Given the description of an element on the screen output the (x, y) to click on. 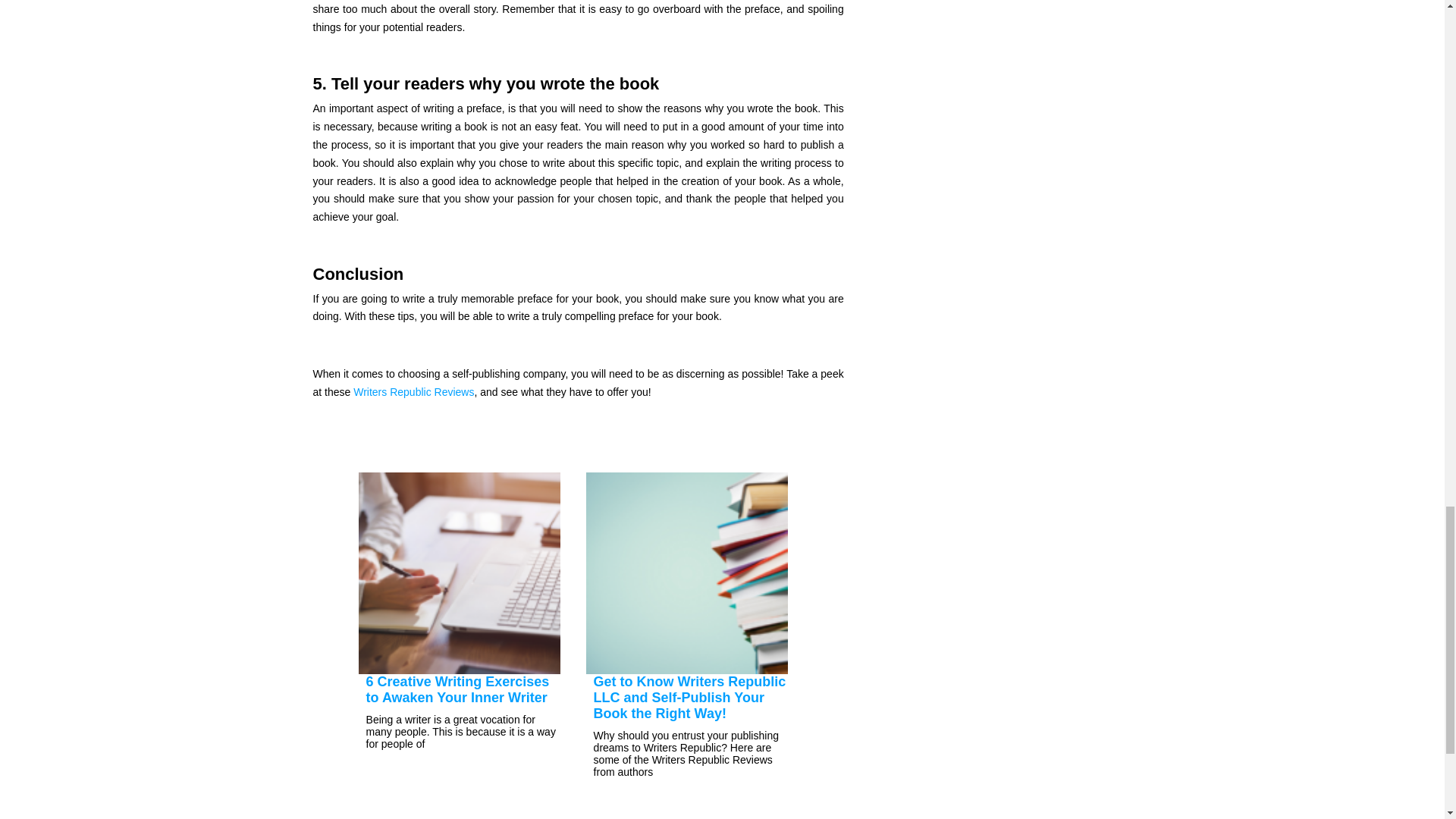
Writers Republic Reviews (413, 391)
6 Creative Writing Exercises to Awaken Your Inner Writer (458, 689)
